Given the description of an element on the screen output the (x, y) to click on. 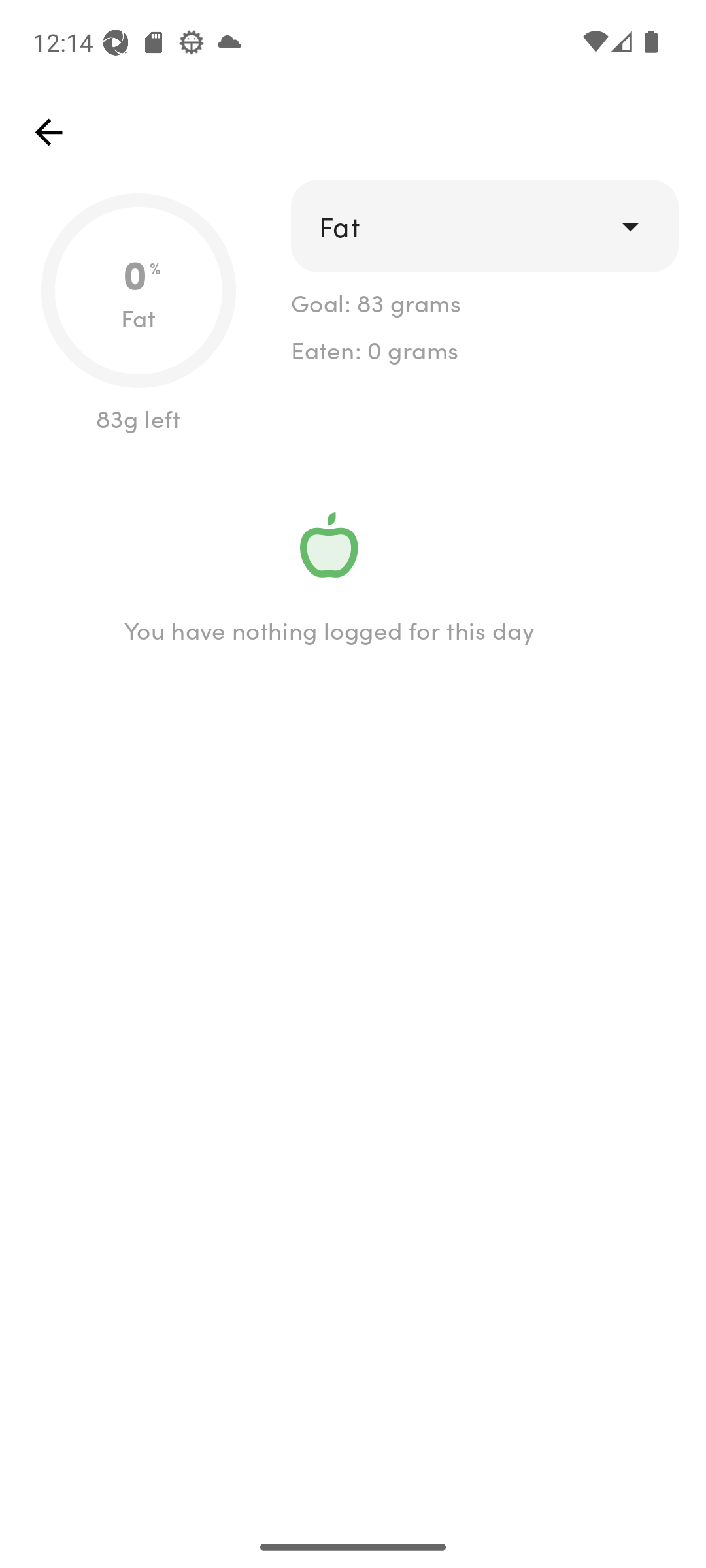
top_left_action (48, 132)
drop_down Fat (484, 226)
